Given the description of an element on the screen output the (x, y) to click on. 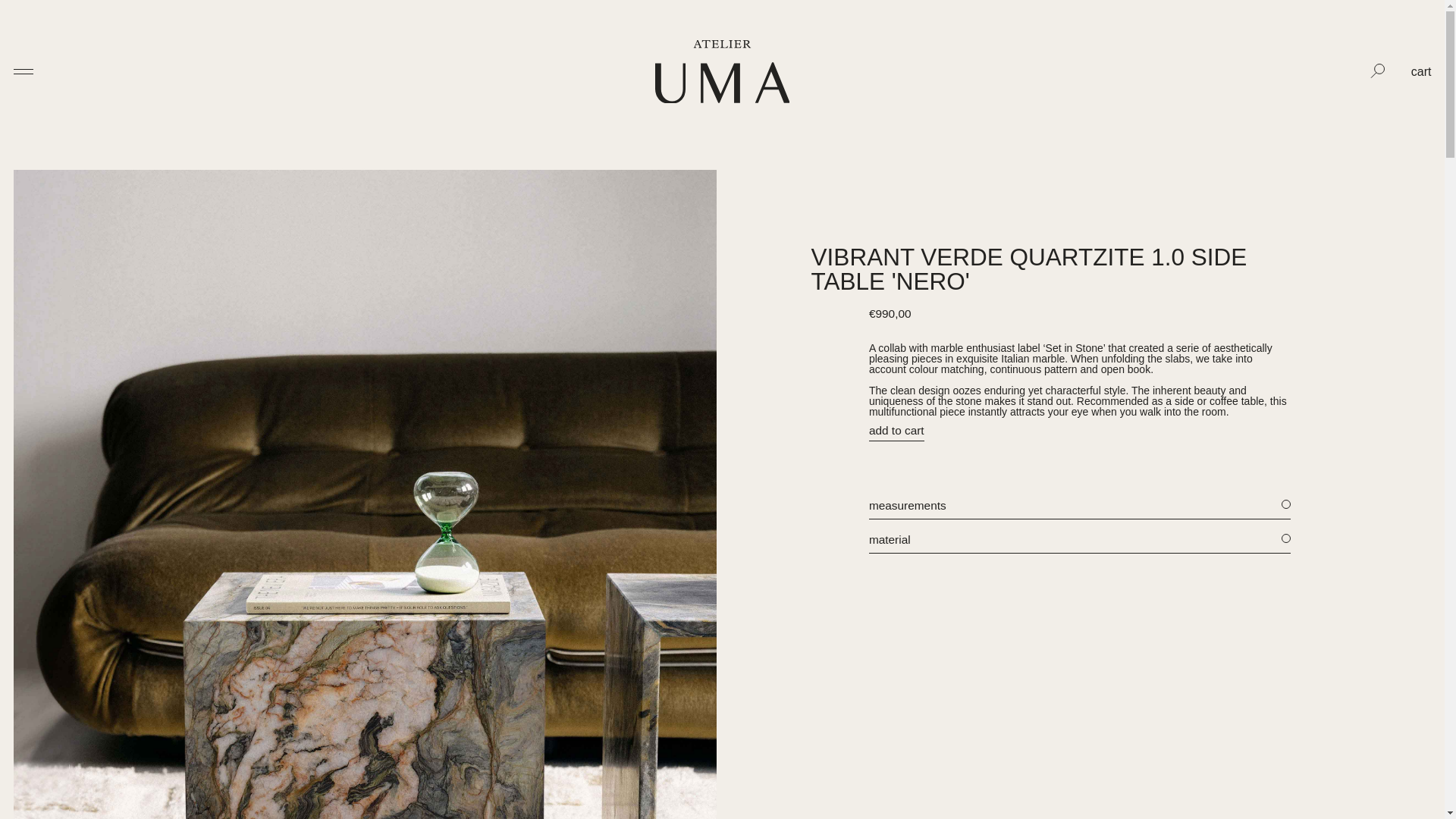
cart (1420, 70)
Add to Cart (896, 428)
Add to Cart (896, 428)
Search (28, 12)
